Given the description of an element on the screen output the (x, y) to click on. 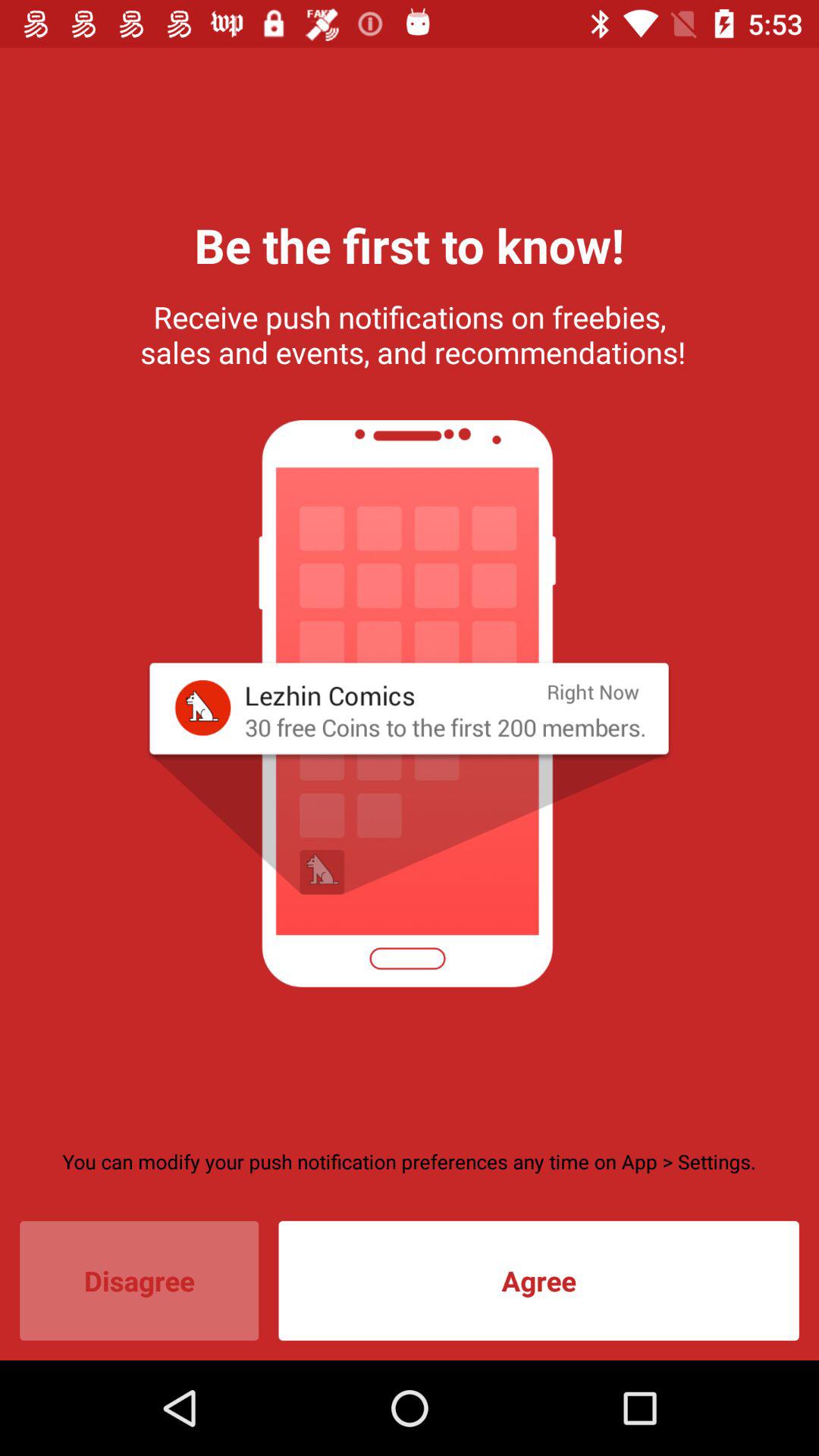
select item next to agree icon (138, 1280)
